Given the description of an element on the screen output the (x, y) to click on. 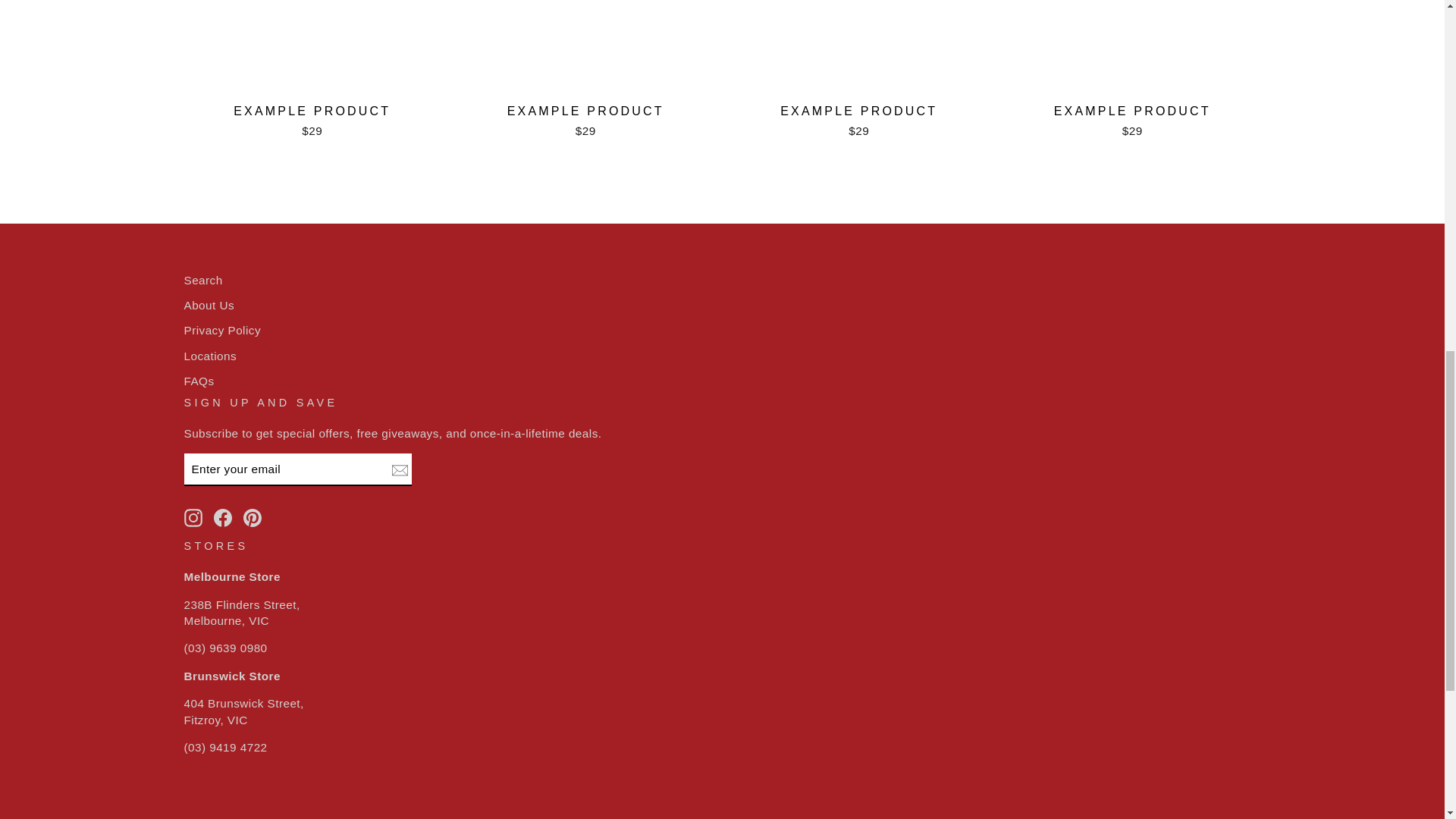
OTC Vintage  on Facebook (222, 517)
OTC Vintage  on Pinterest (251, 517)
OTC Vintage  on Instagram (192, 517)
